Given the description of an element on the screen output the (x, y) to click on. 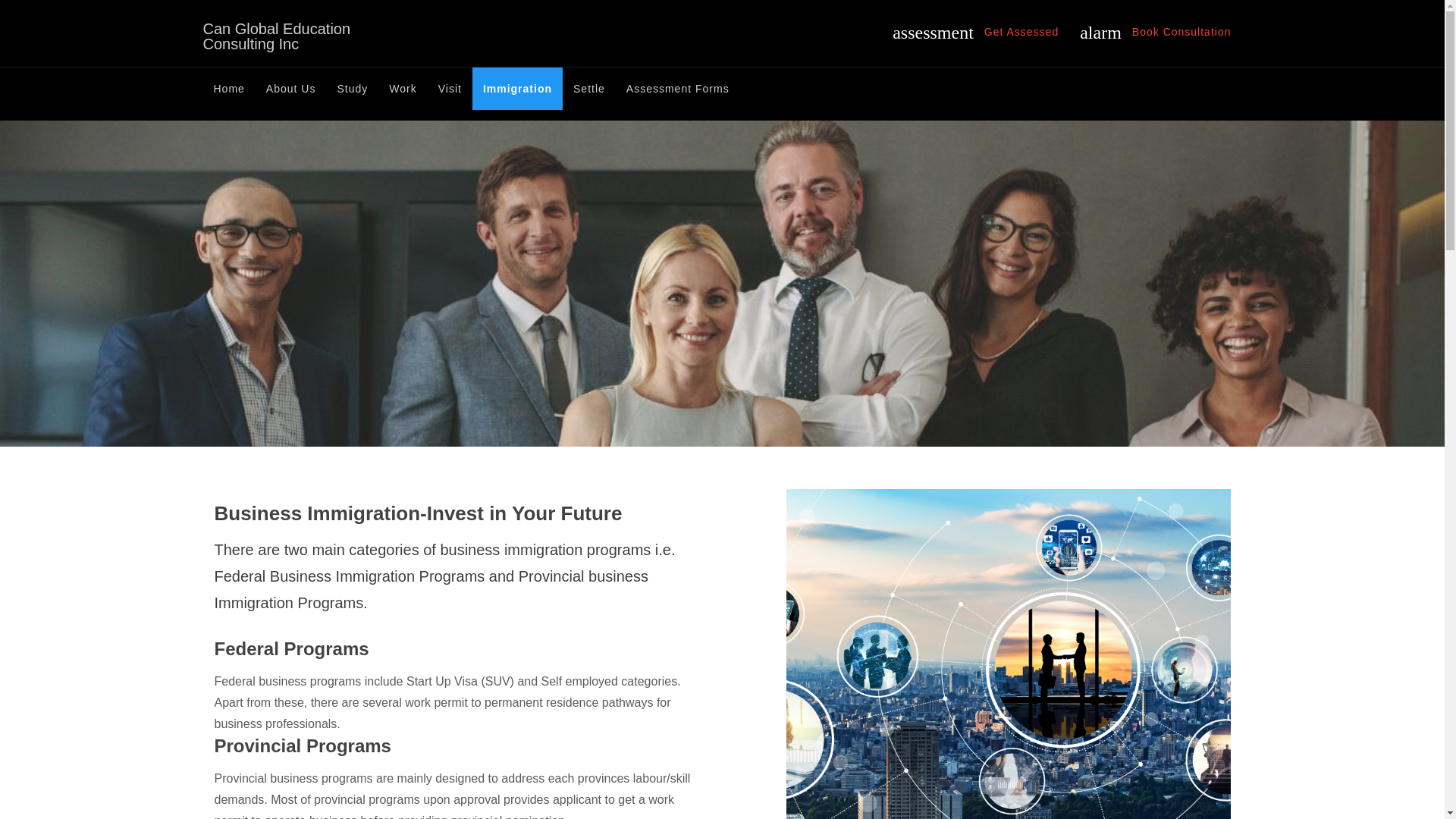
Study (352, 88)
Work (402, 88)
Can Global Education Consulting Inc (279, 36)
Can Global Education Consulting Inc (279, 36)
assessmentGet Assessed (975, 31)
Visit (449, 88)
Home (229, 88)
alarmBook Consultation (1154, 31)
About Us (291, 88)
Immigration (516, 88)
